Given the description of an element on the screen output the (x, y) to click on. 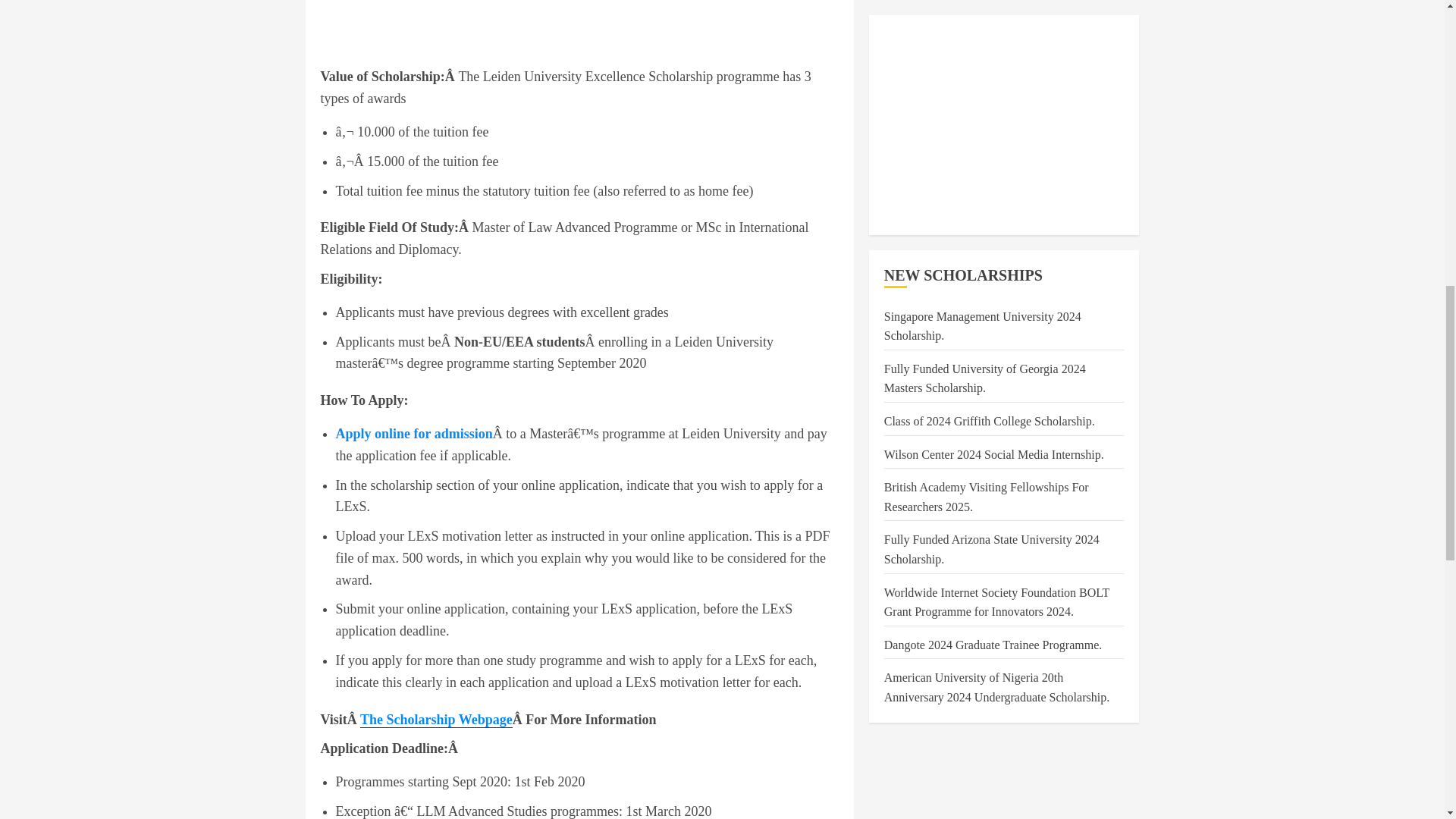
Dangote 2024 Graduate Trainee Programme. (992, 4)
The Scholarship Webpage (435, 719)
Apply online for admission (413, 433)
Advertisement (579, 29)
